Given the description of an element on the screen output the (x, y) to click on. 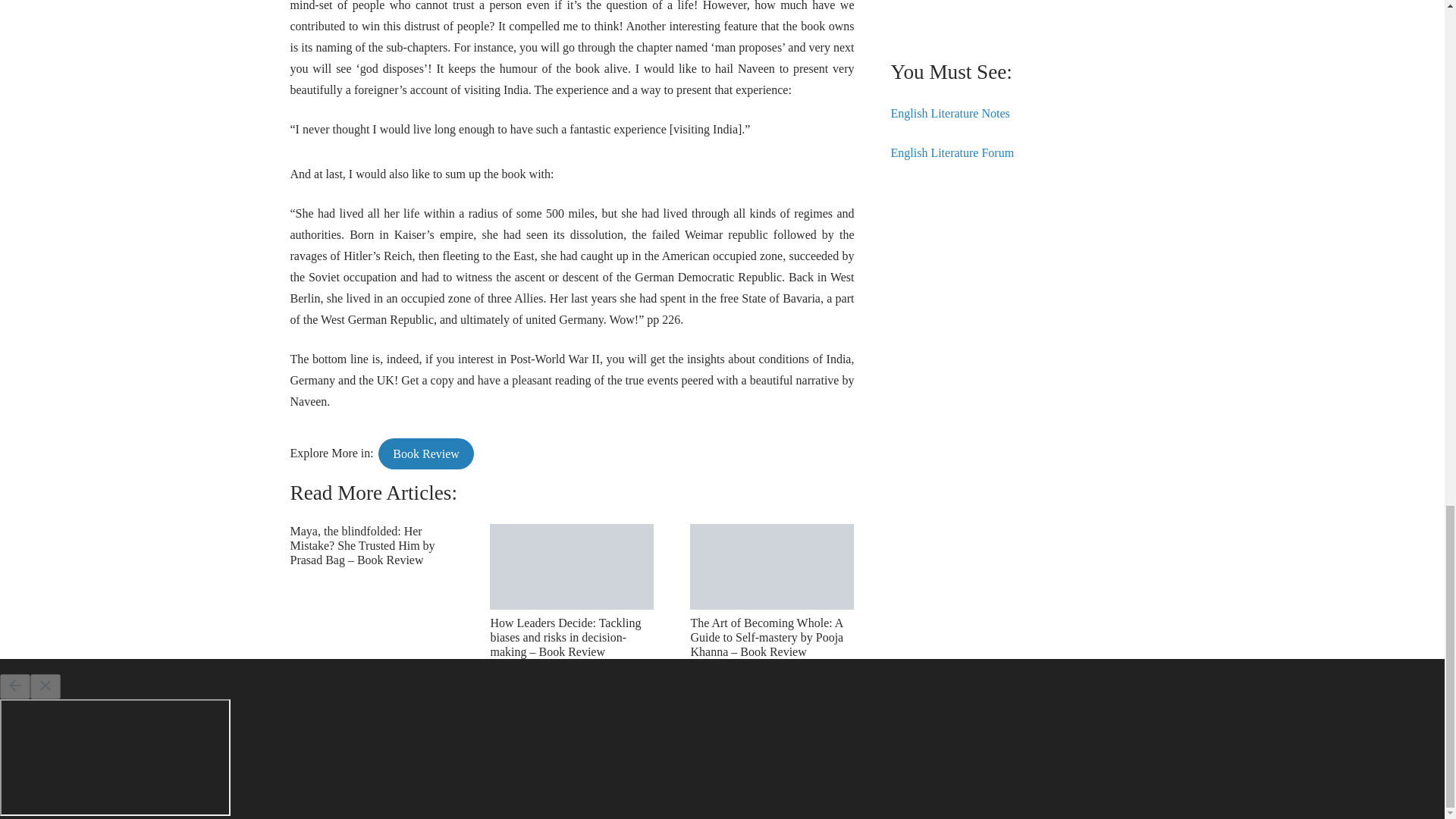
Book Review (426, 454)
